Given the description of an element on the screen output the (x, y) to click on. 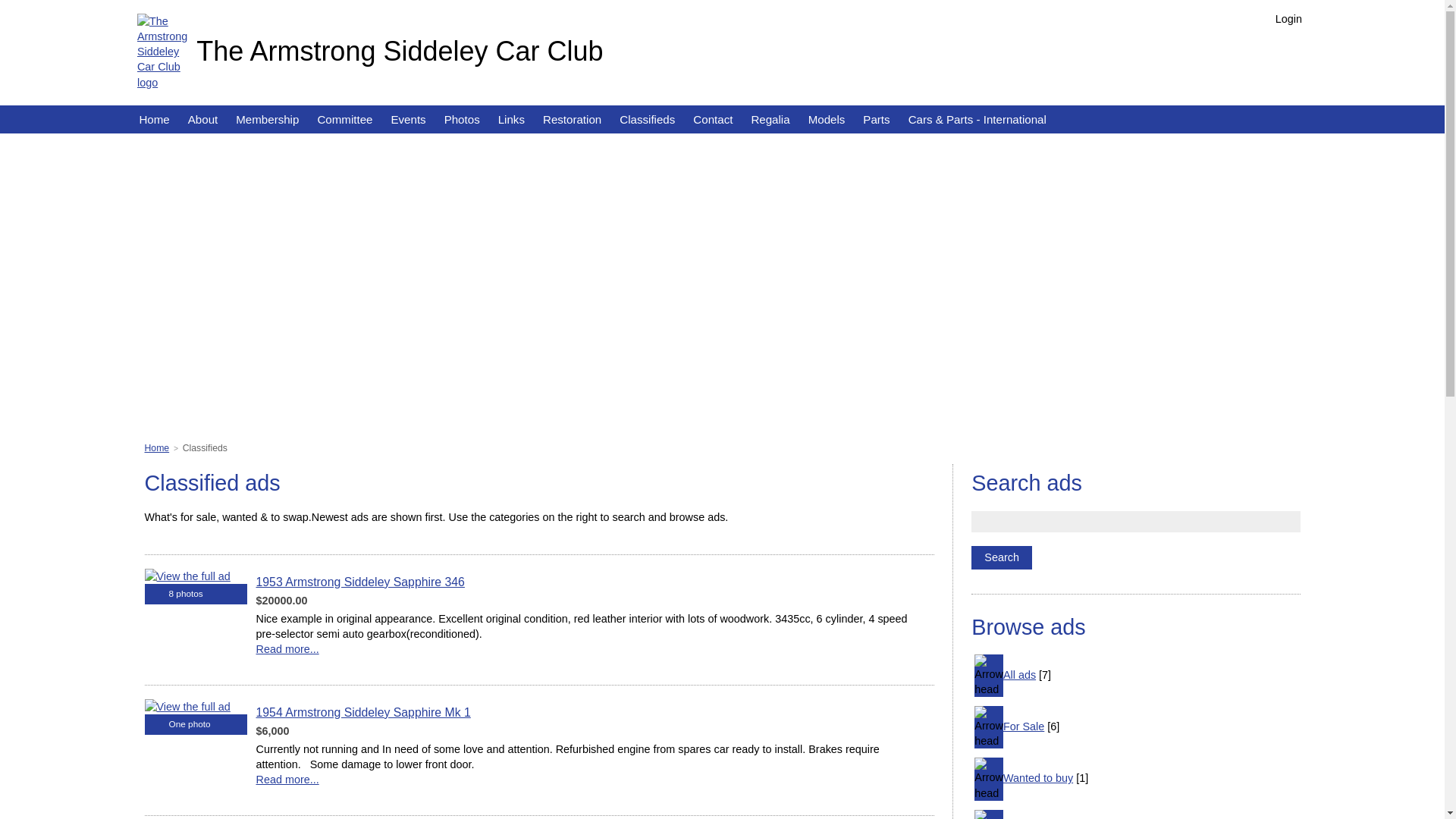
1954 Armstrong Siddeley Sapphire Mk 1 Element type: text (363, 712)
Arrow head Element type: hover (988, 727)
Cars & Parts - International Element type: text (977, 119)
View the full ad Element type: hover (186, 706)
Links Element type: text (511, 119)
Wanted to buy Element type: text (1038, 777)
Contact Element type: text (712, 119)
Committee Element type: text (344, 119)
Membership Element type: text (266, 119)
Parts Element type: text (875, 119)
View the full ad Element type: hover (186, 575)
All ads Element type: text (1019, 674)
Classifieds Element type: text (647, 119)
View the full ad Element type: hover (186, 576)
Home Element type: text (153, 119)
Read more... Element type: text (369, 656)
Read more... Element type: text (365, 786)
Arrow head Element type: hover (988, 675)
Search Element type: text (1001, 557)
Restoration Element type: text (571, 119)
Regalia Element type: text (769, 119)
About Element type: text (202, 119)
Arrow head Element type: hover (988, 778)
Login Element type: text (1281, 18)
The Armstrong Siddeley Car Club logo Element type: hover (162, 51)
1953 Armstrong Siddeley Sapphire 346 Element type: text (360, 581)
View the full ad Element type: hover (186, 706)
Photos Element type: text (462, 119)
Models Element type: text (826, 119)
Home Element type: text (156, 447)
Events Element type: text (407, 119)
For Sale Element type: text (1023, 726)
Home page Element type: hover (162, 50)
